Given the description of an element on the screen output the (x, y) to click on. 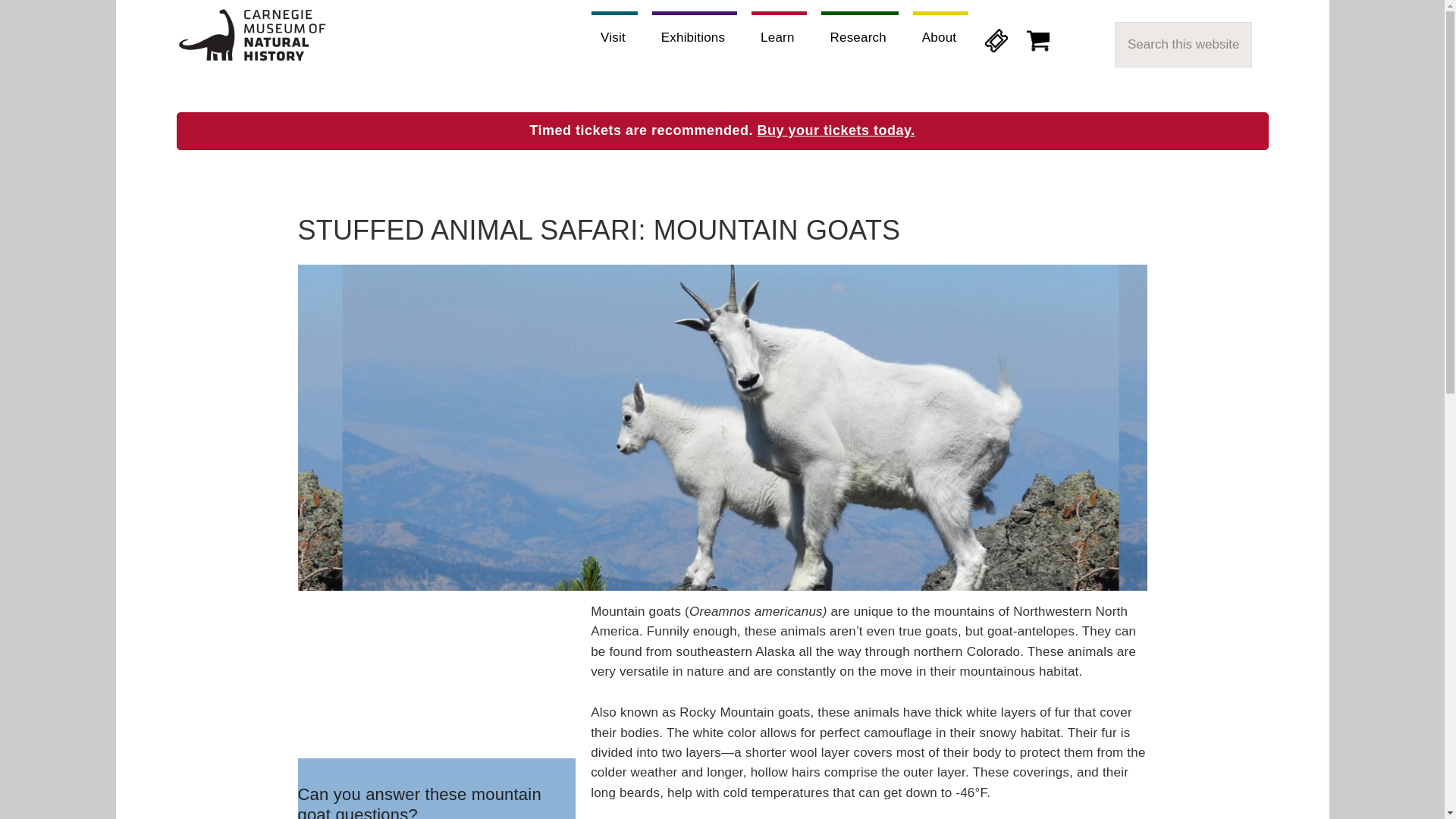
Carnegie Museum of Natural History (251, 38)
Stuffed Animal Safari - Mountain Goats (436, 679)
Learn (778, 33)
Visit (614, 33)
About (940, 33)
Buy your tickets today. (836, 130)
Research (859, 33)
